Given the description of an element on the screen output the (x, y) to click on. 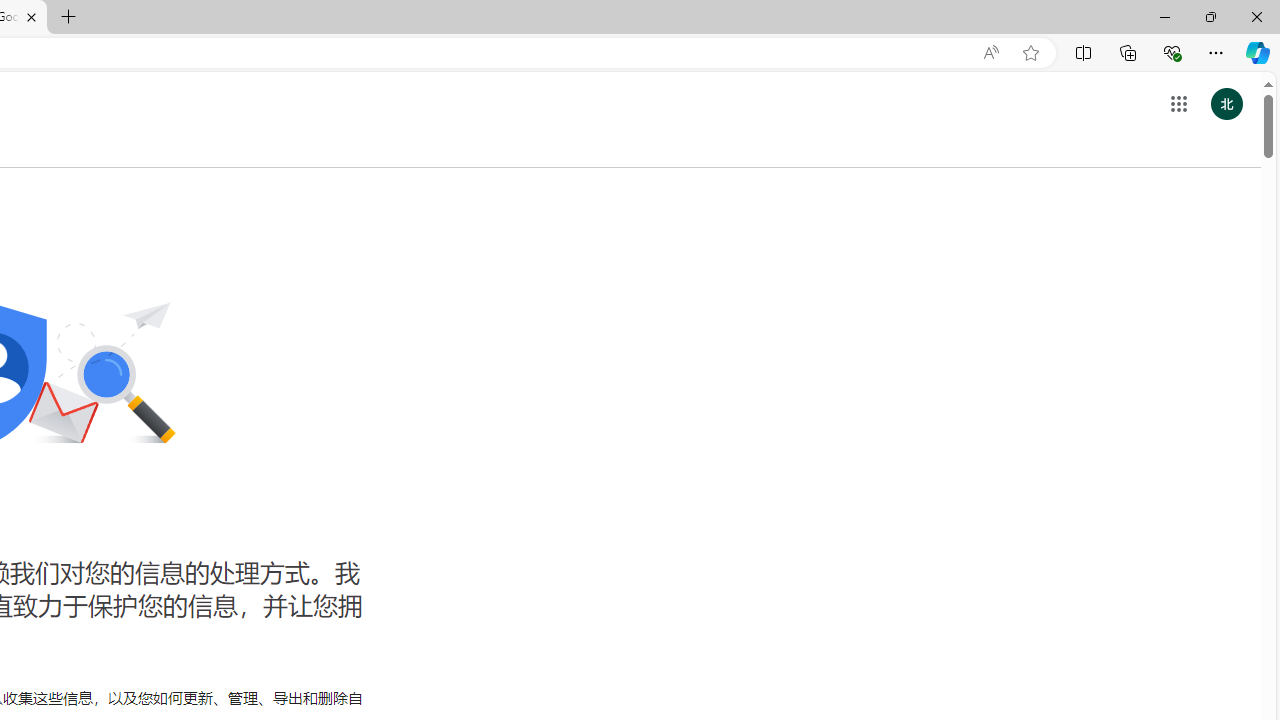
Browser essentials (1171, 52)
Minimize (1164, 16)
Settings and more (Alt+F) (1215, 52)
Copilot (Ctrl+Shift+.) (1258, 52)
Class: gb_E (1178, 103)
Split screen (1083, 52)
Read aloud this page (Ctrl+Shift+U) (991, 53)
Restore (1210, 16)
Close (1256, 16)
Collections (1128, 52)
Add this page to favorites (Ctrl+D) (1030, 53)
New Tab (69, 17)
